Given the description of an element on the screen output the (x, y) to click on. 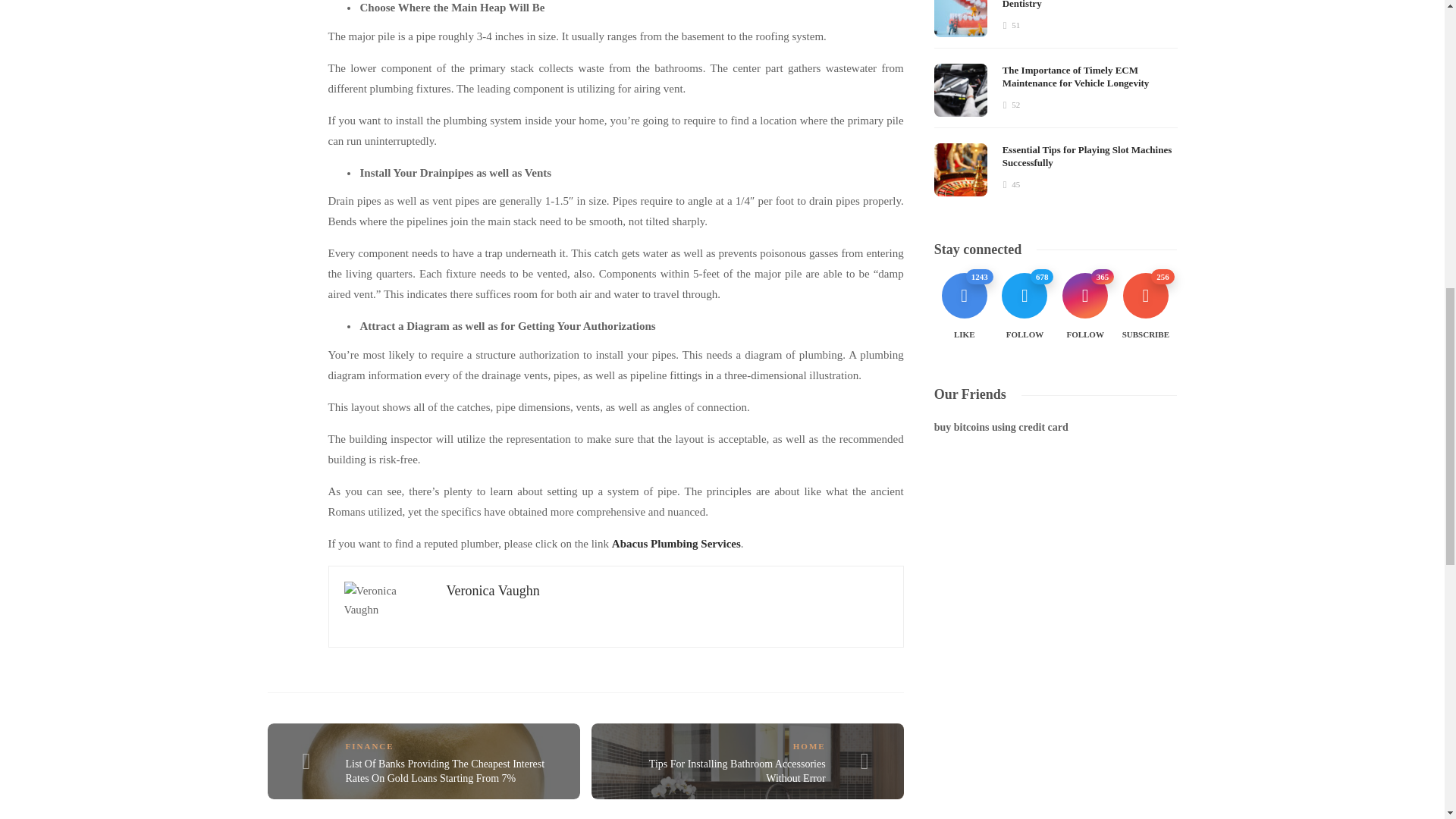
Abacus Plumbing Services (676, 543)
Veronica Vaughn (491, 590)
